Given the description of an element on the screen output the (x, y) to click on. 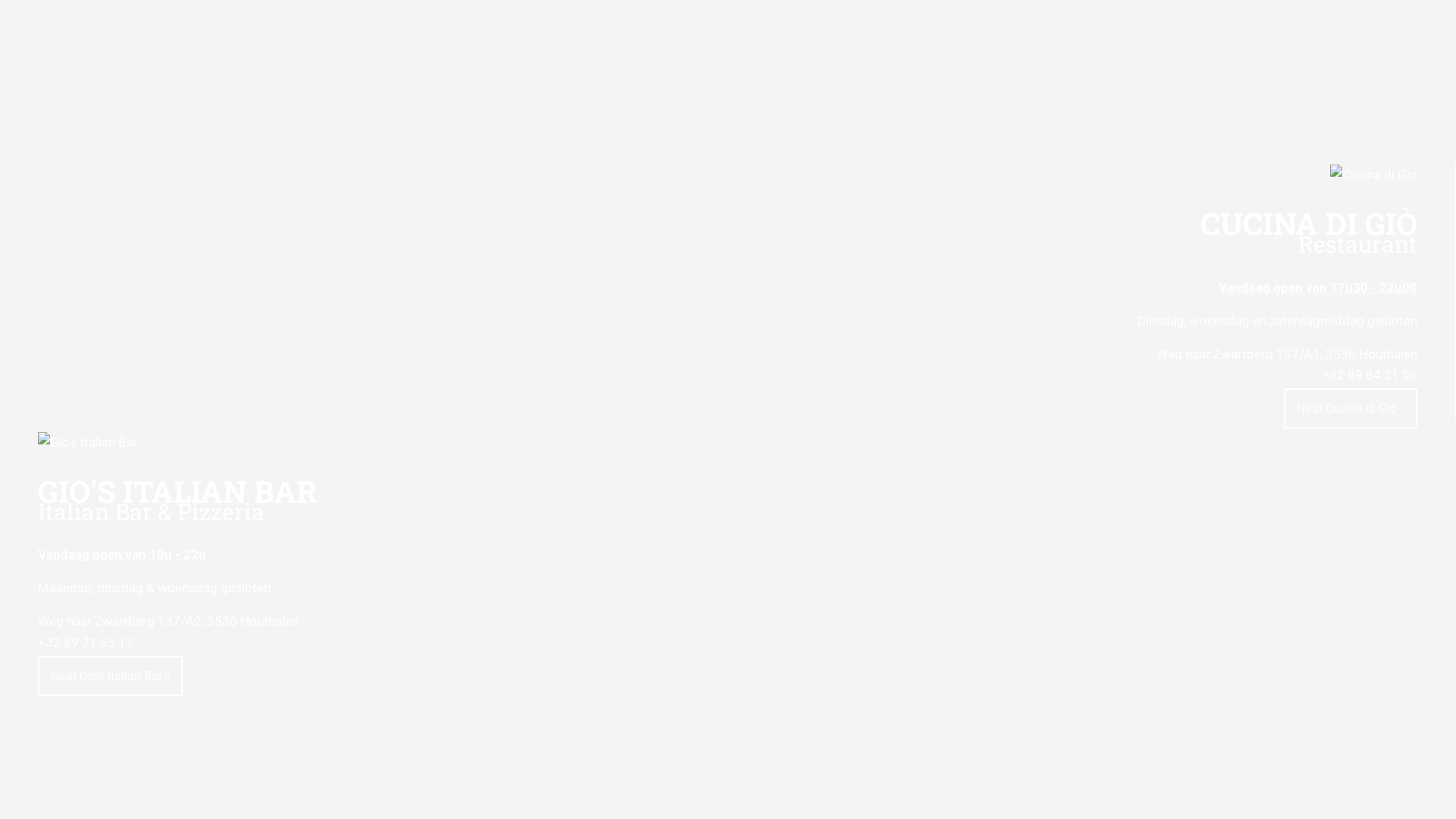
Naar Gio's Italian Bar Element type: text (109, 675)
